Given the description of an element on the screen output the (x, y) to click on. 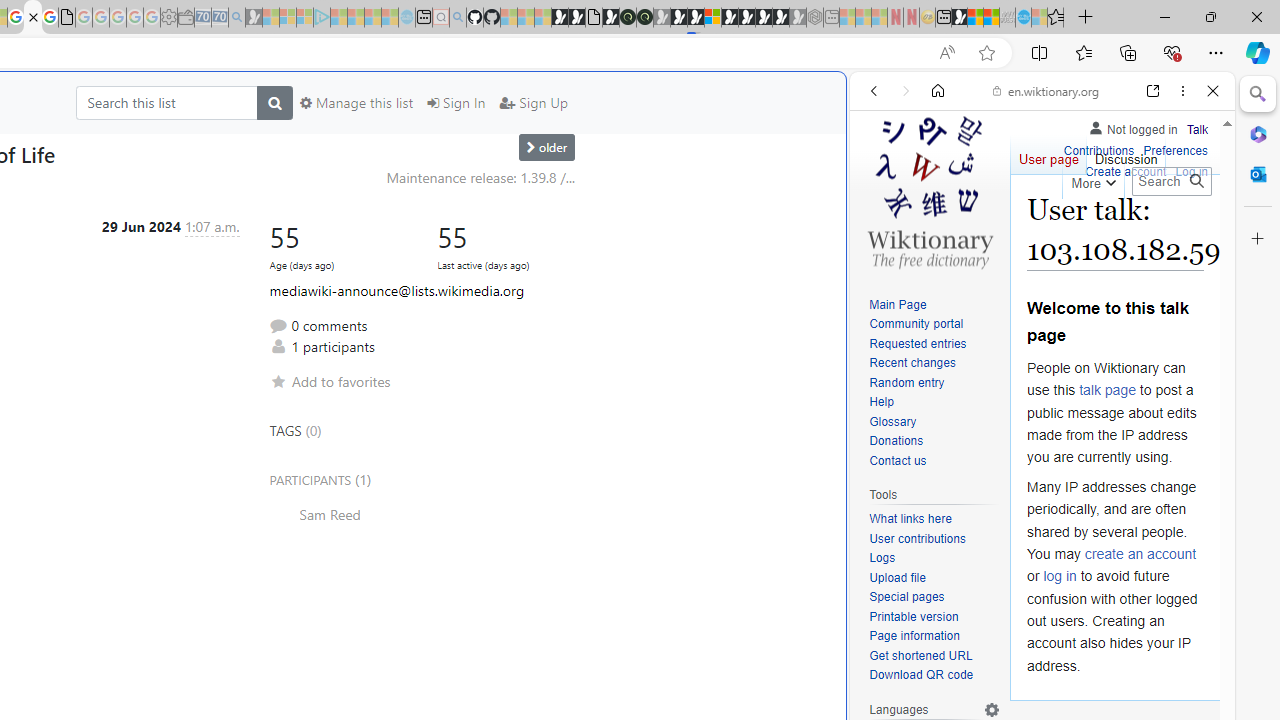
Sign in to your account (712, 17)
Requested entries (934, 344)
Not logged in (1132, 126)
